Given the description of an element on the screen output the (x, y) to click on. 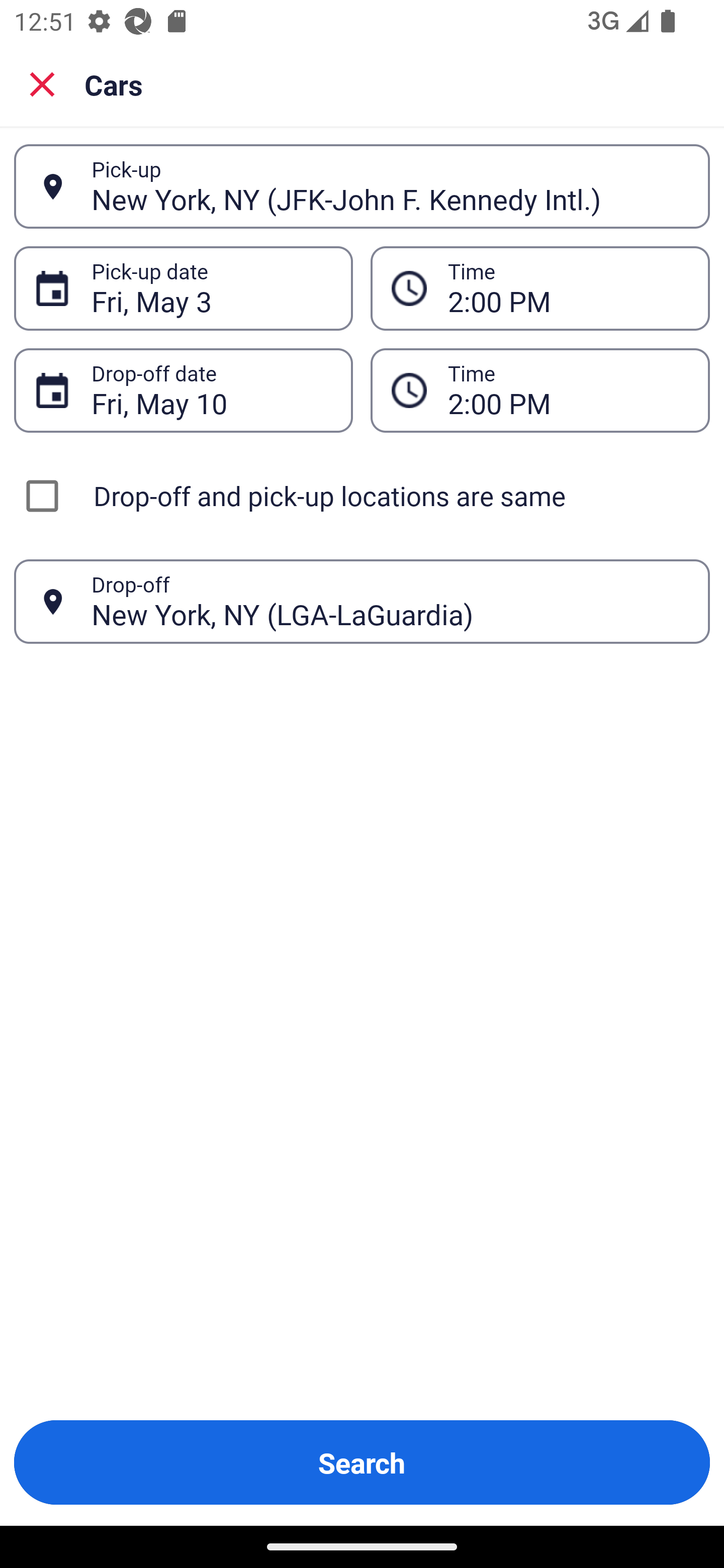
Close search screen (42, 84)
New York, NY (JFK-John F. Kennedy Intl.) (389, 186)
Fri, May 3 (211, 288)
2:00 PM (568, 288)
Fri, May 10 (211, 390)
2:00 PM (568, 390)
Drop-off and pick-up locations are same (361, 495)
New York, NY (LGA-LaGuardia) (389, 601)
Search Button Search (361, 1462)
